Given the description of an element on the screen output the (x, y) to click on. 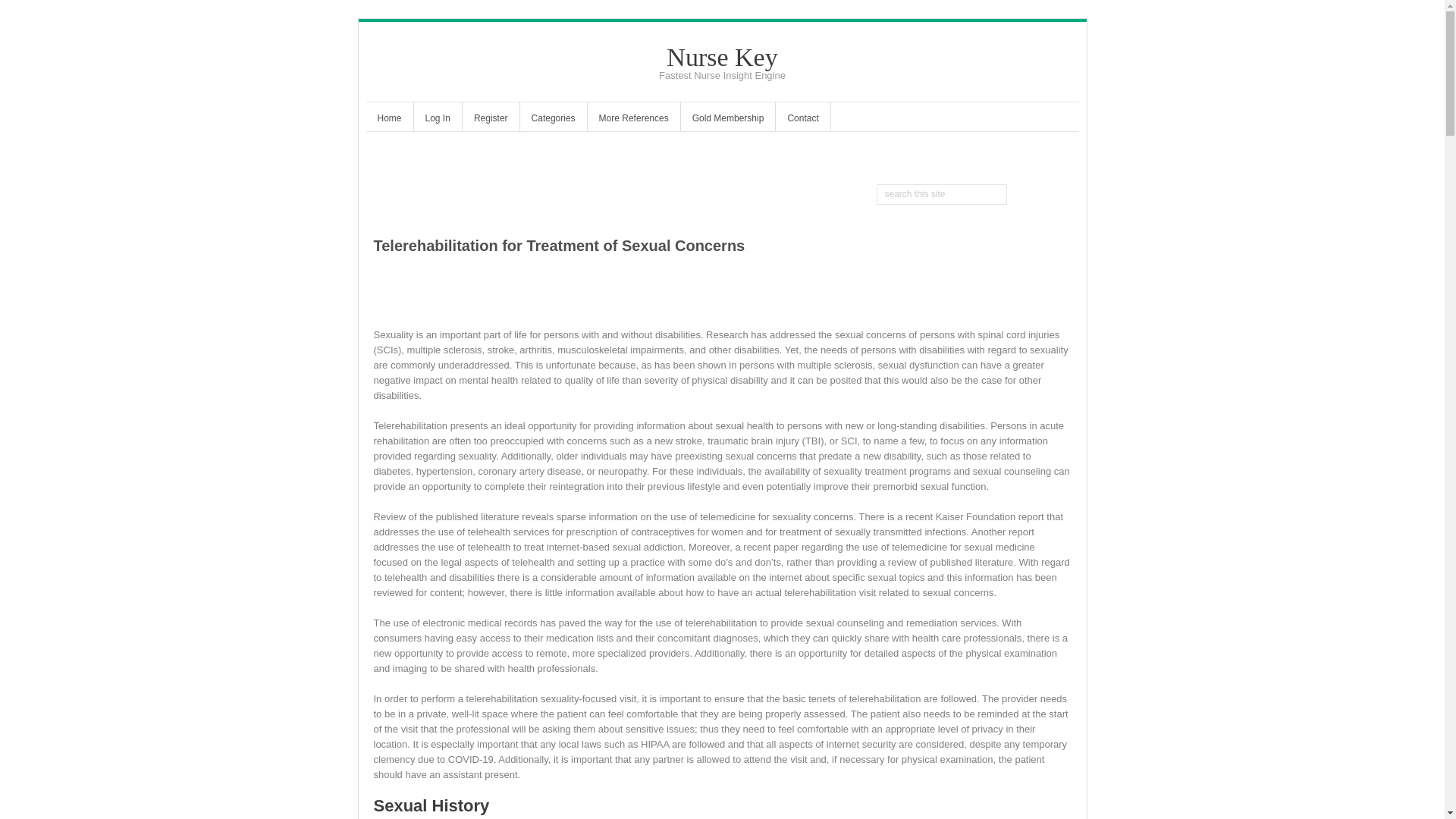
Contact (802, 119)
Nurse Key (721, 57)
More References (633, 119)
Register (491, 119)
Gold Membership (728, 119)
Home (388, 119)
Categories (552, 119)
Log In (437, 119)
Nurse Key (721, 57)
